Given the description of an element on the screen output the (x, y) to click on. 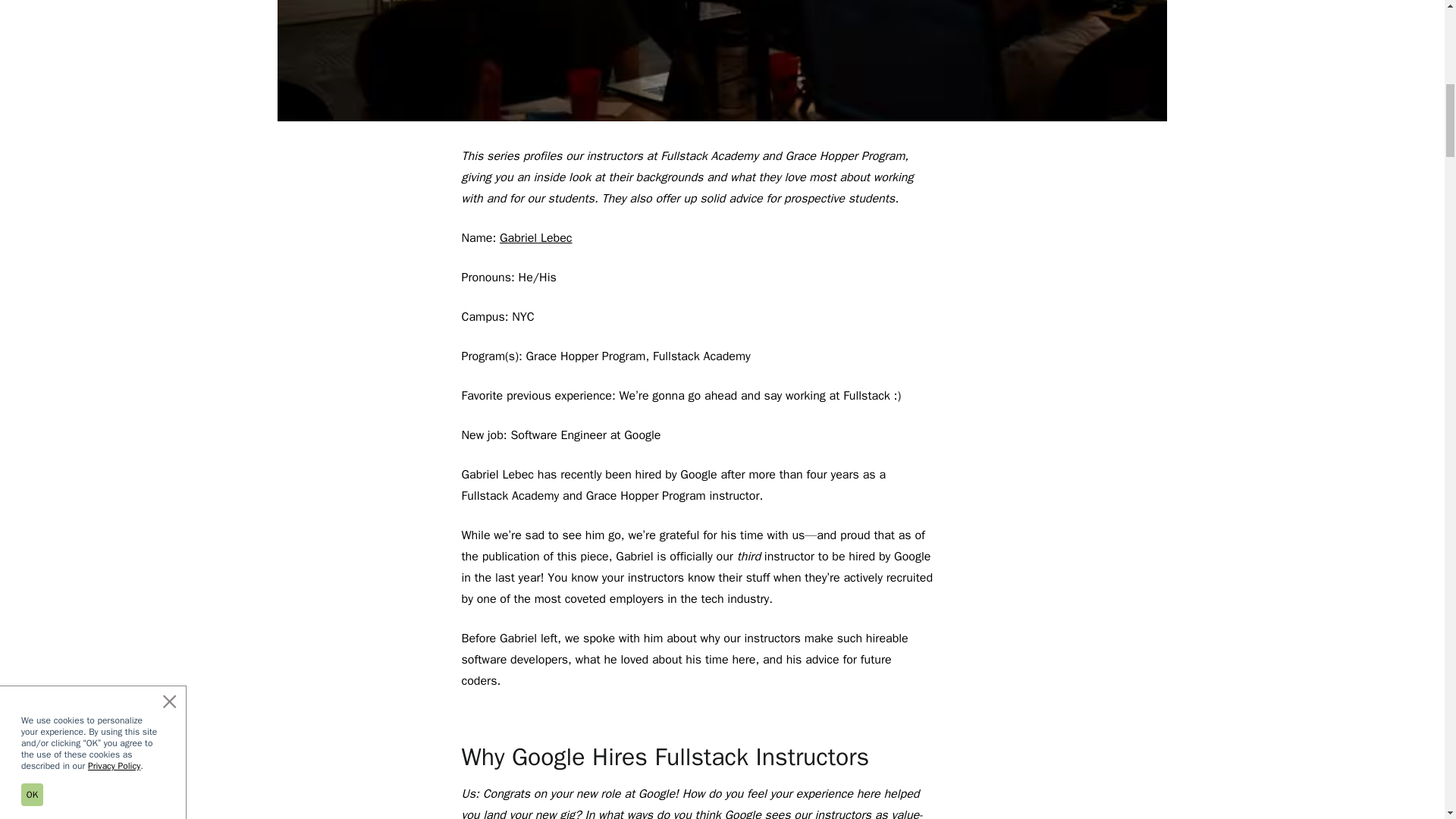
Gabriel Lebec (535, 237)
